Given the description of an element on the screen output the (x, y) to click on. 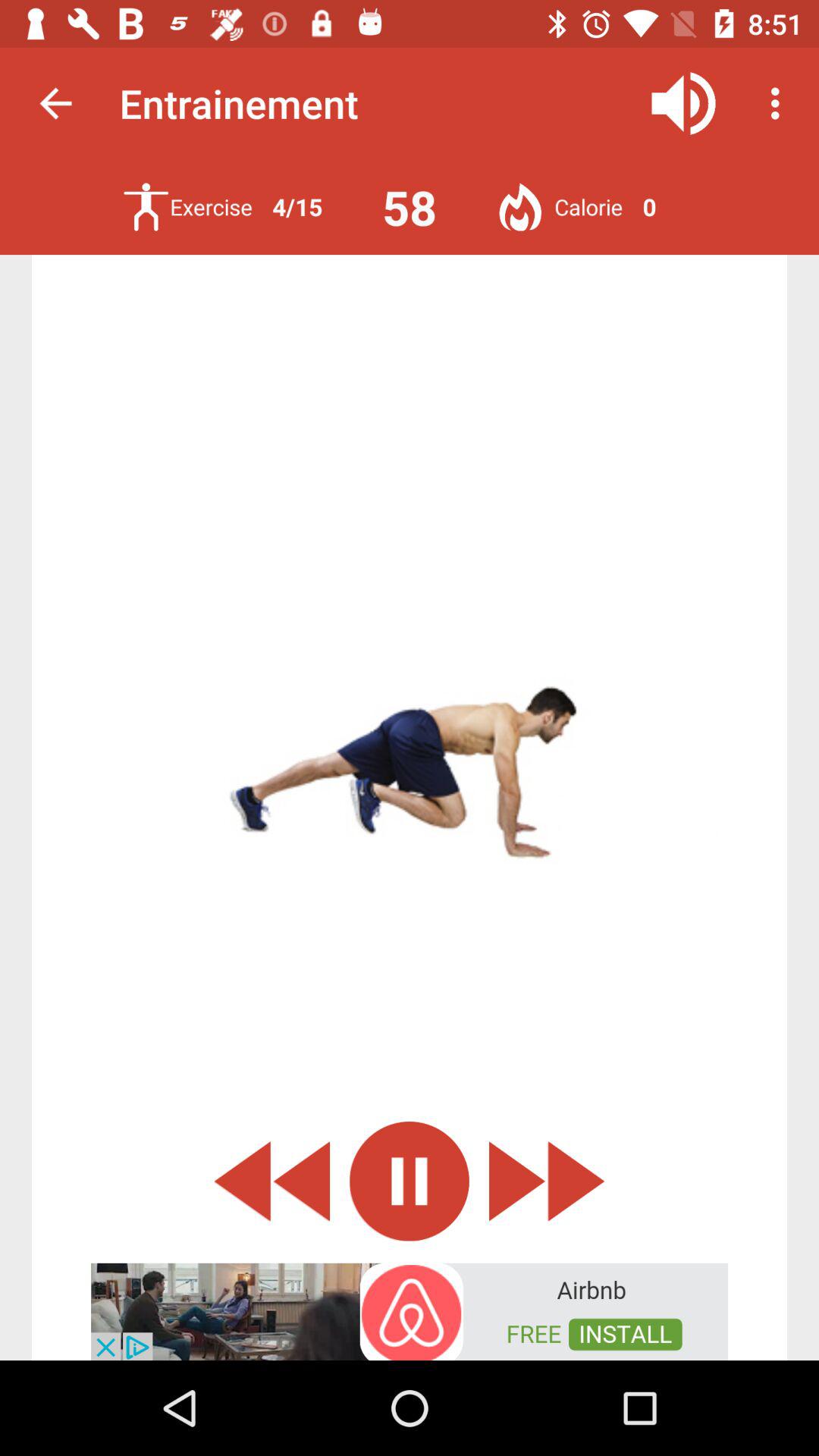
go to stop (409, 1181)
